Given the description of an element on the screen output the (x, y) to click on. 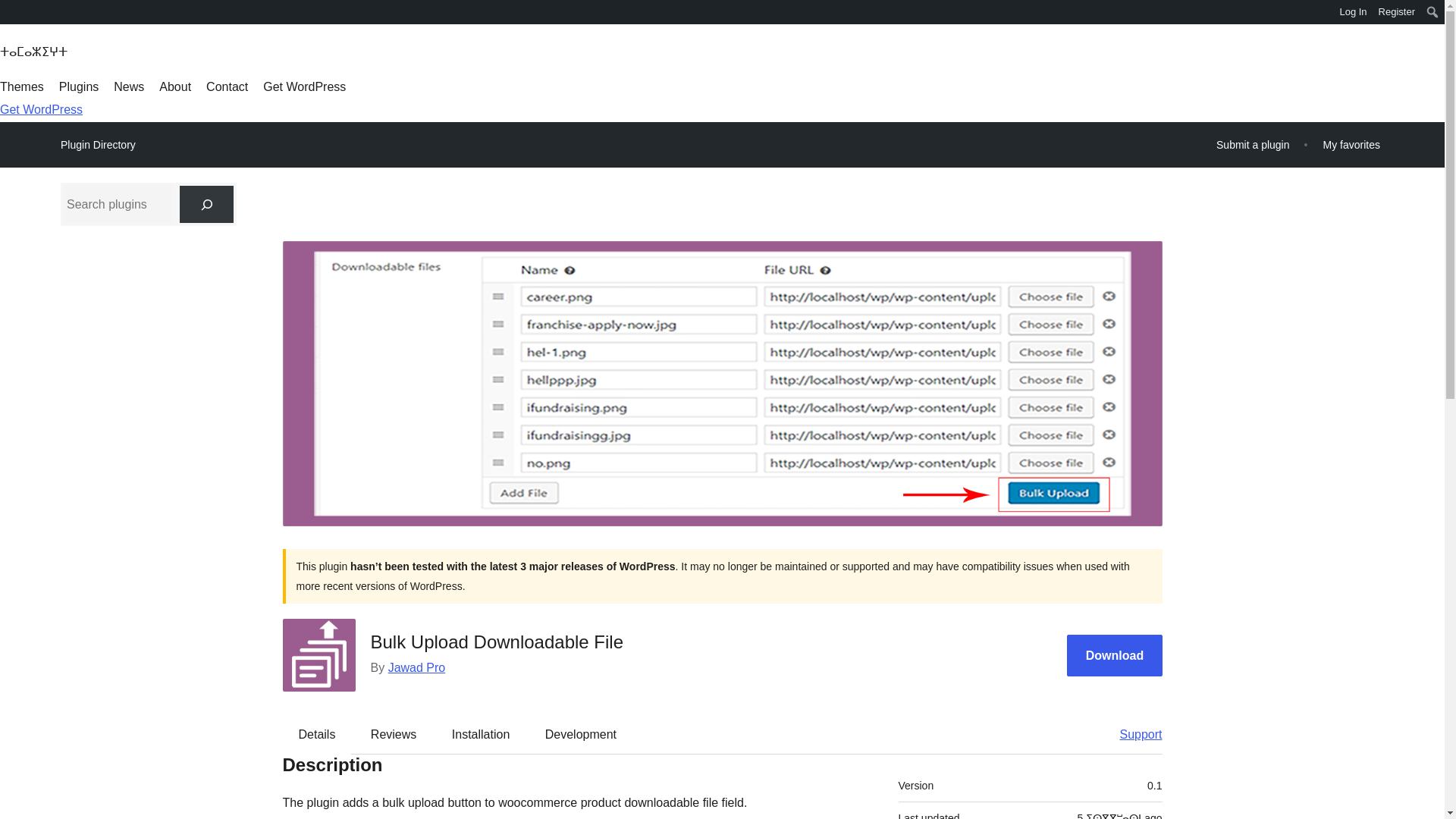
Installation (480, 733)
Register (1397, 12)
About (174, 87)
Contact (226, 87)
WordPress.org (10, 10)
Download (1114, 655)
News (128, 87)
WordPress.org (10, 16)
Get WordPress (304, 87)
Get WordPress (41, 109)
